Given the description of an element on the screen output the (x, y) to click on. 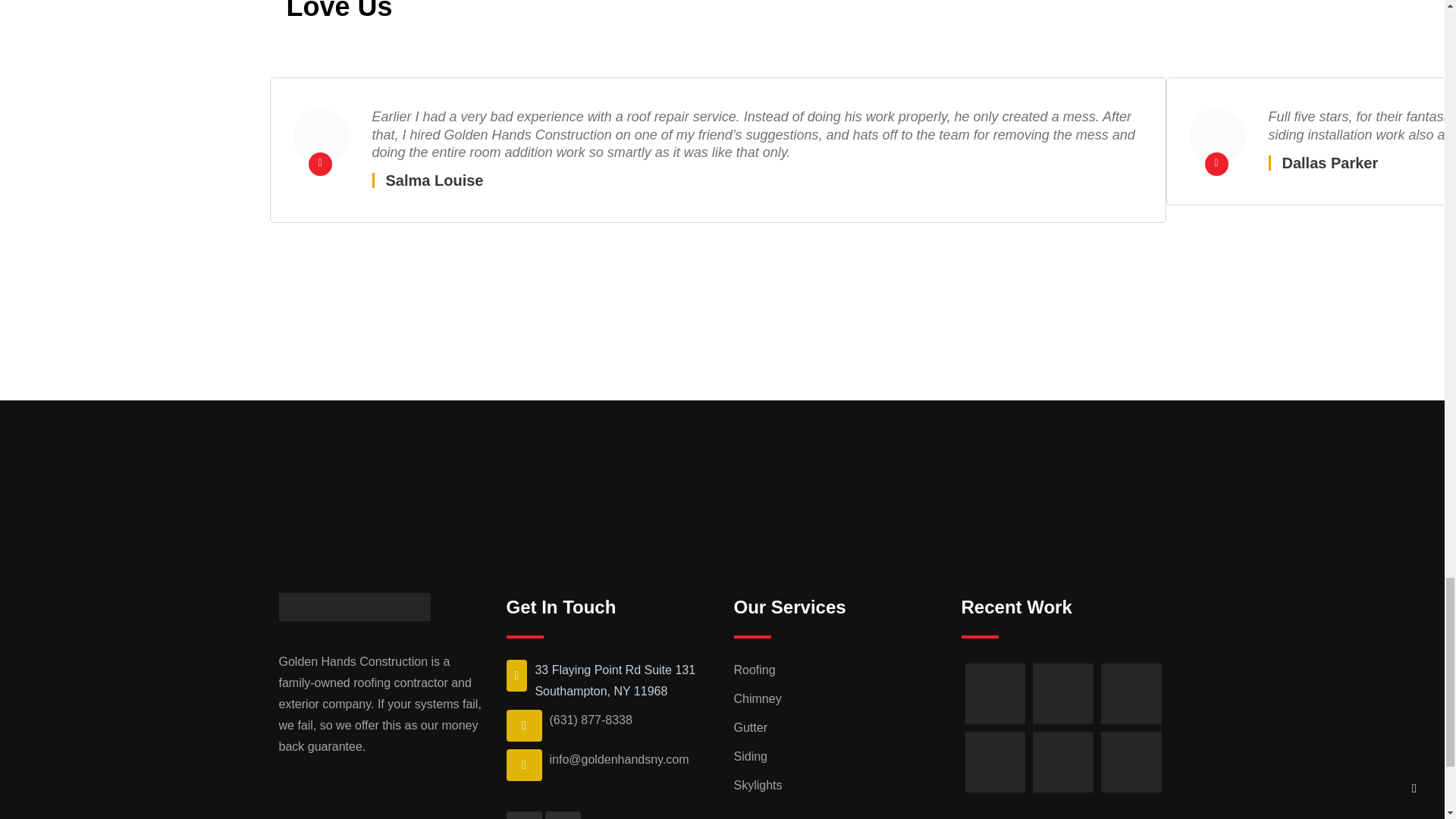
Chimney Damper (1216, 136)
Chimney Damper (320, 136)
